Given the description of an element on the screen output the (x, y) to click on. 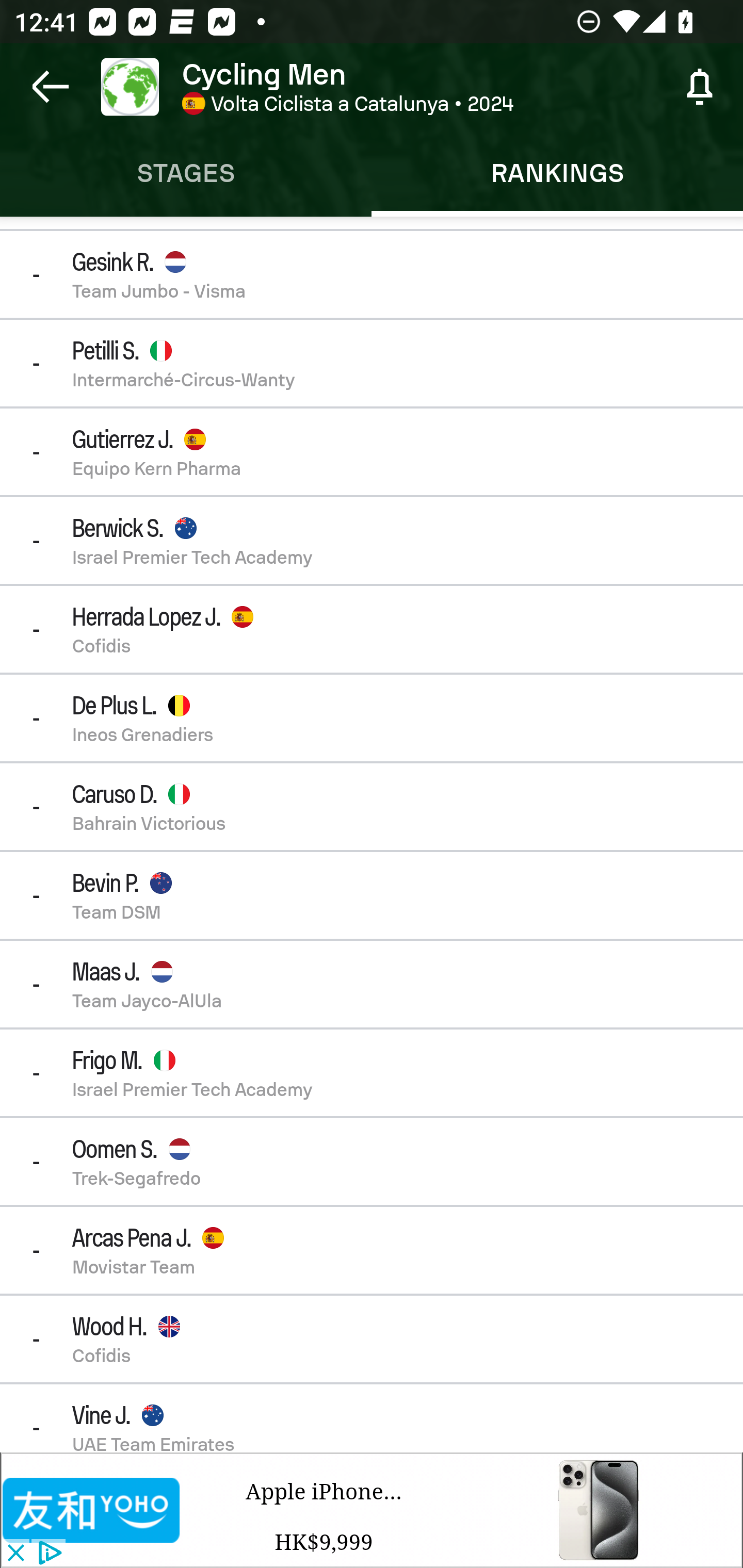
Navigate up (50, 86)
Stages STAGES (185, 173)
- Gesink R. Team Jumbo - Visma (371, 274)
- Petilli S. Intermarché-Circus-Wanty (371, 362)
- Gutierrez J. Equipo Kern Pharma (371, 452)
- Berwick S. Israel Premier Tech Academy (371, 540)
- Herrada Lopez J. Cofidis (371, 629)
- De Plus L. Ineos Grenadiers (371, 718)
- Caruso D. Bahrain Victorious (371, 806)
- Bevin P. Team DSM (371, 895)
- Maas J. Team Jayco-AlUla (371, 983)
- Frigo M. Israel Premier Tech Academy (371, 1073)
- Oomen S. Trek-Segafredo (371, 1160)
- Arcas Pena J. Movistar Team (371, 1250)
- Wood H. Cofidis (371, 1338)
- Vine J. UAE Team Emirates (371, 1417)
   (91, 1509)
close_button (14, 1553)
privacy_small (47, 1553)
